Given the description of an element on the screen output the (x, y) to click on. 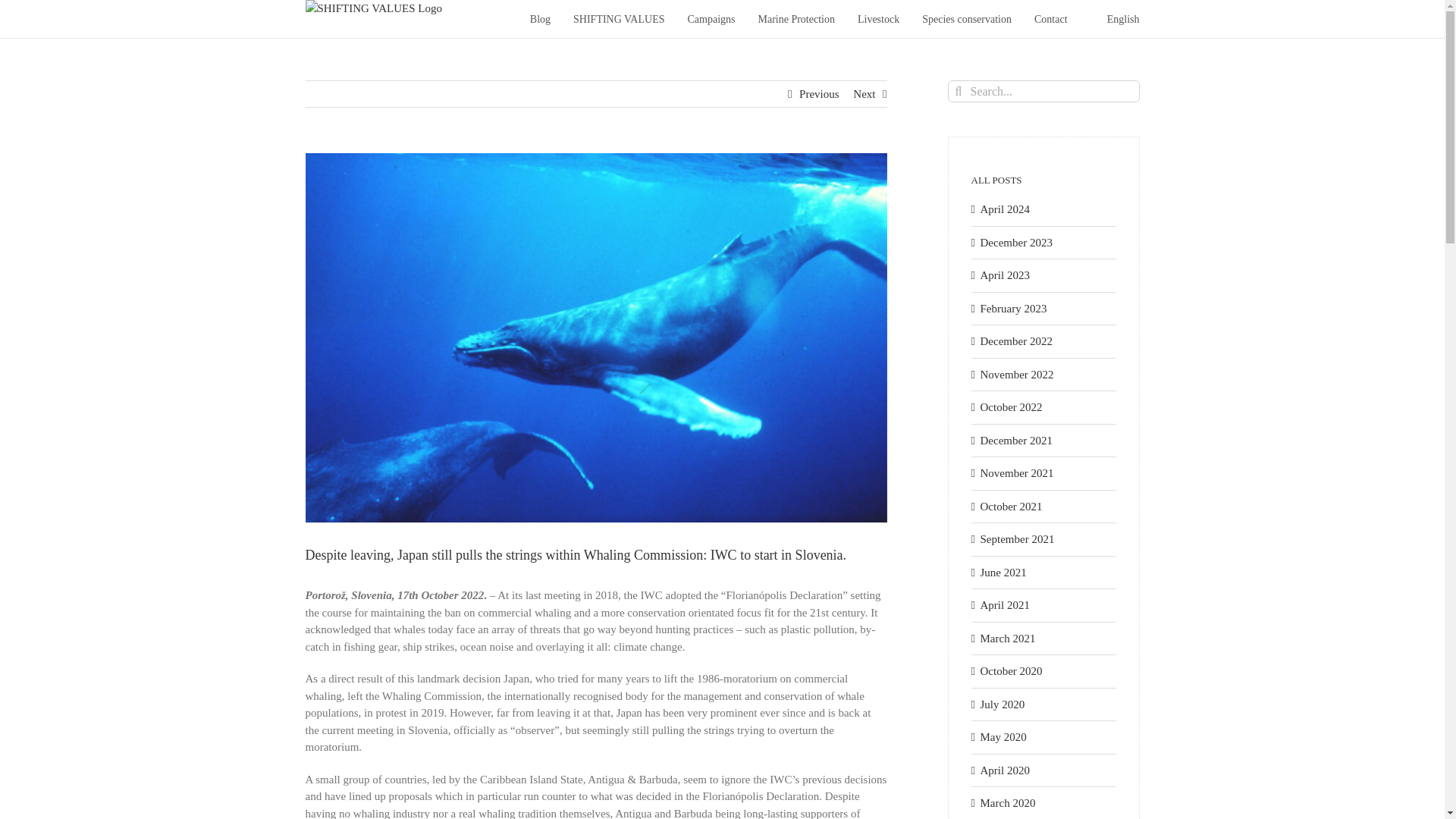
Species conservation (966, 18)
English (1115, 18)
English (1115, 18)
SHIFTING VALUES (618, 18)
Marine Protection (795, 18)
Campaigns (711, 18)
Livestock (878, 18)
